Given the description of an element on the screen output the (x, y) to click on. 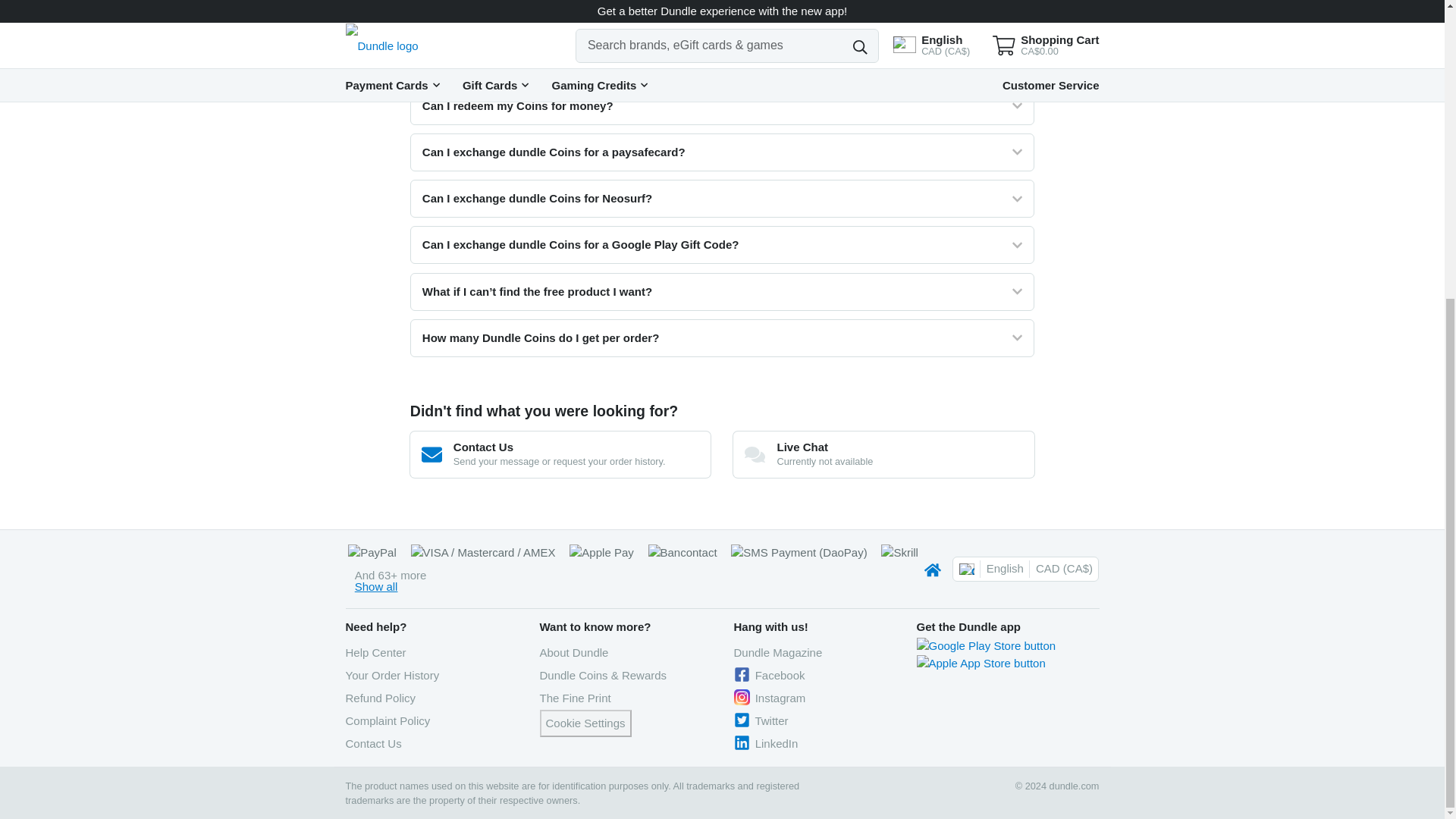
Show all (376, 585)
Can I exchange dundle Coins for Neosurf? (721, 198)
Can I give my Dundle Coins to someone else? (721, 15)
Can I exchange dundle Coins for a Google Play Gift Code? (721, 244)
Can I exchange dundle Coins for a paysafecard? (721, 152)
Can I redeem my Coins for money? (721, 105)
Dundle Magazine (777, 652)
How many Dundle Coins do I get per order? (721, 338)
Cookie Settings (585, 723)
